Given the description of an element on the screen output the (x, y) to click on. 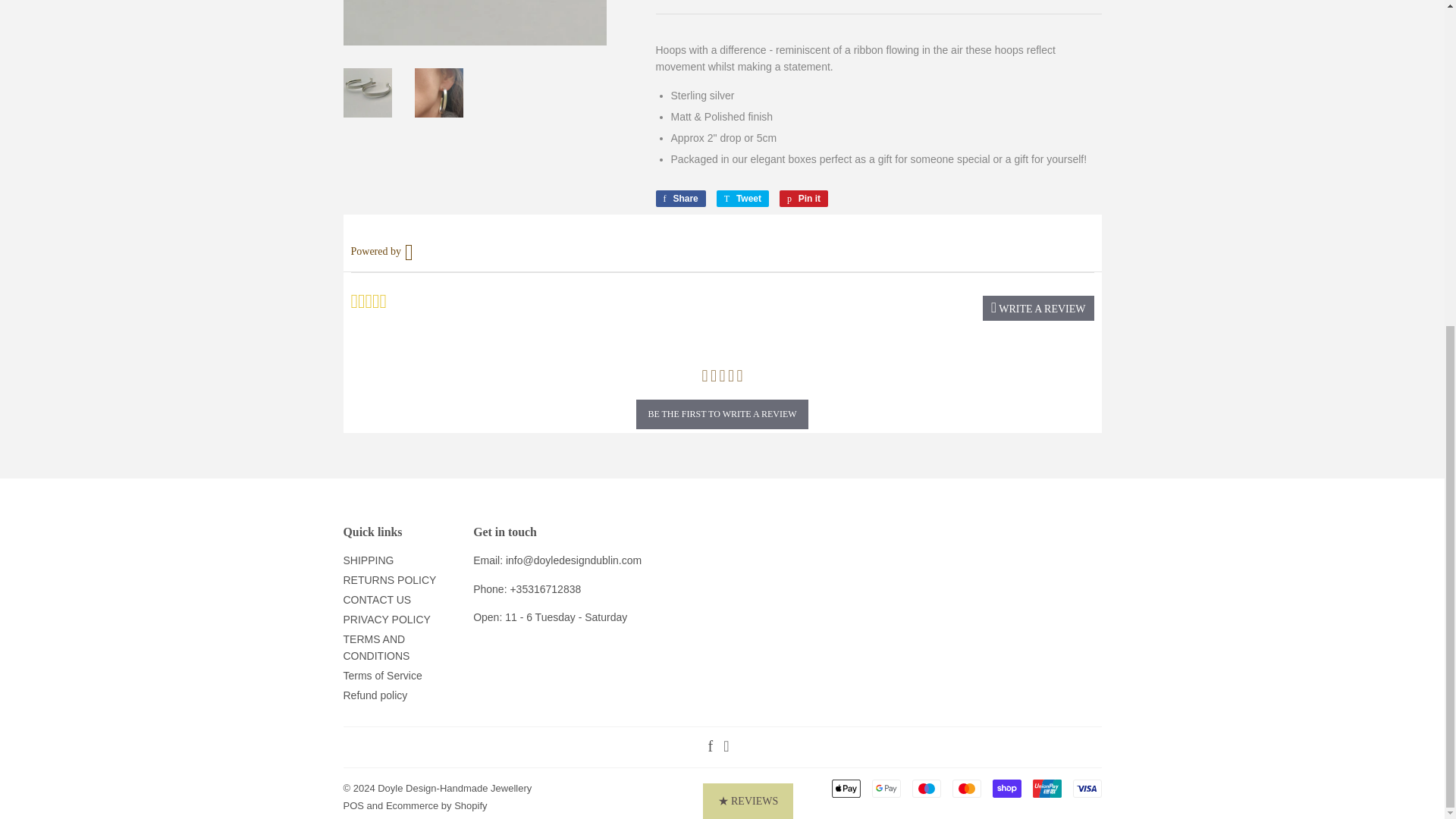
Visa (1085, 788)
Shop Pay (1005, 788)
Doyle Design-Handmade Jewellery on Facebook (710, 747)
BE THE FIRST TO WRITE A REVIEW (722, 414)
Google Pay (886, 788)
Tweet on Twitter (742, 198)
Share on Facebook (742, 198)
Pin on Pinterest (679, 198)
Apple Pay (679, 198)
Union Pay (803, 198)
Mastercard (845, 788)
Maestro (1046, 788)
